Given the description of an element on the screen output the (x, y) to click on. 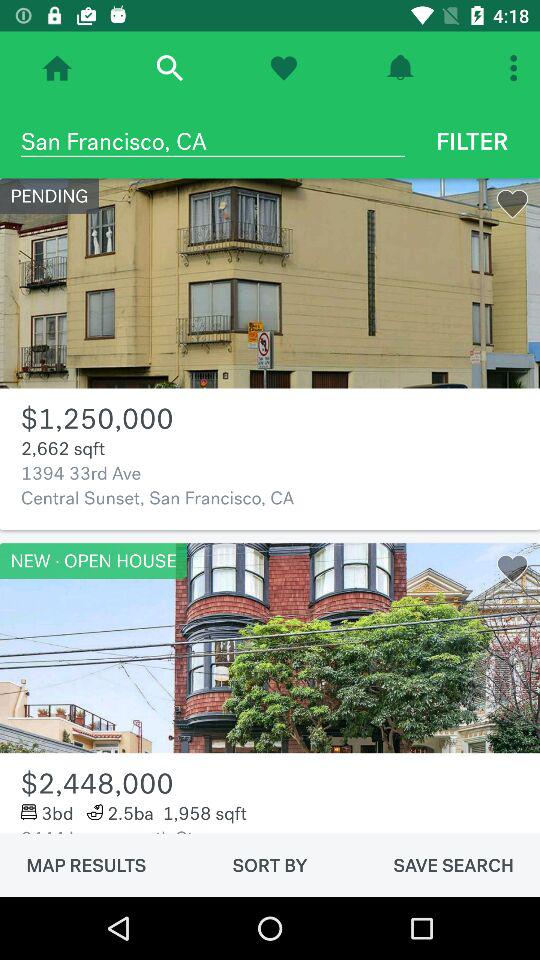
it is notification key (400, 68)
